Given the description of an element on the screen output the (x, y) to click on. 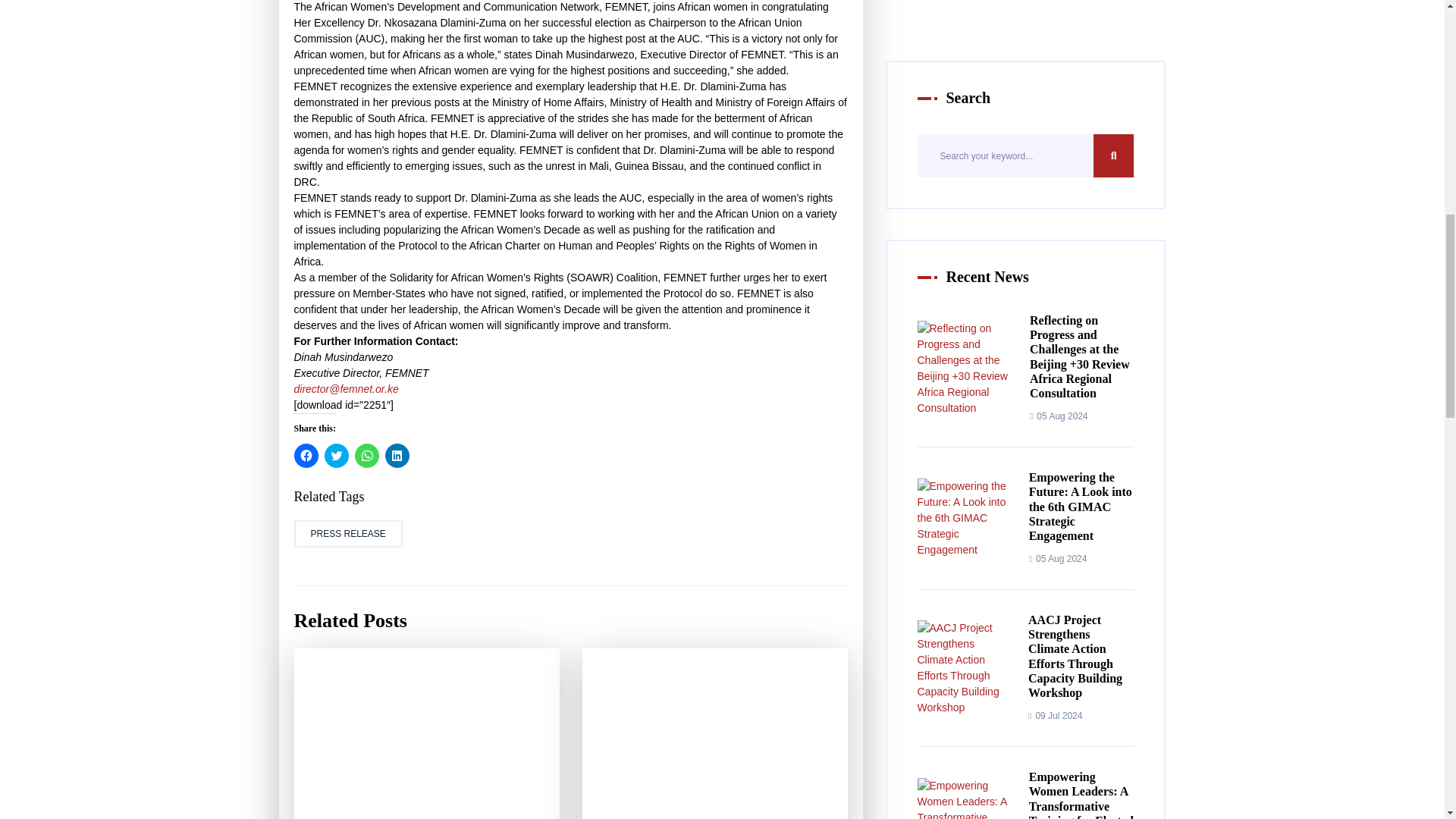
PRESS RELEASE (348, 533)
